Given the description of an element on the screen output the (x, y) to click on. 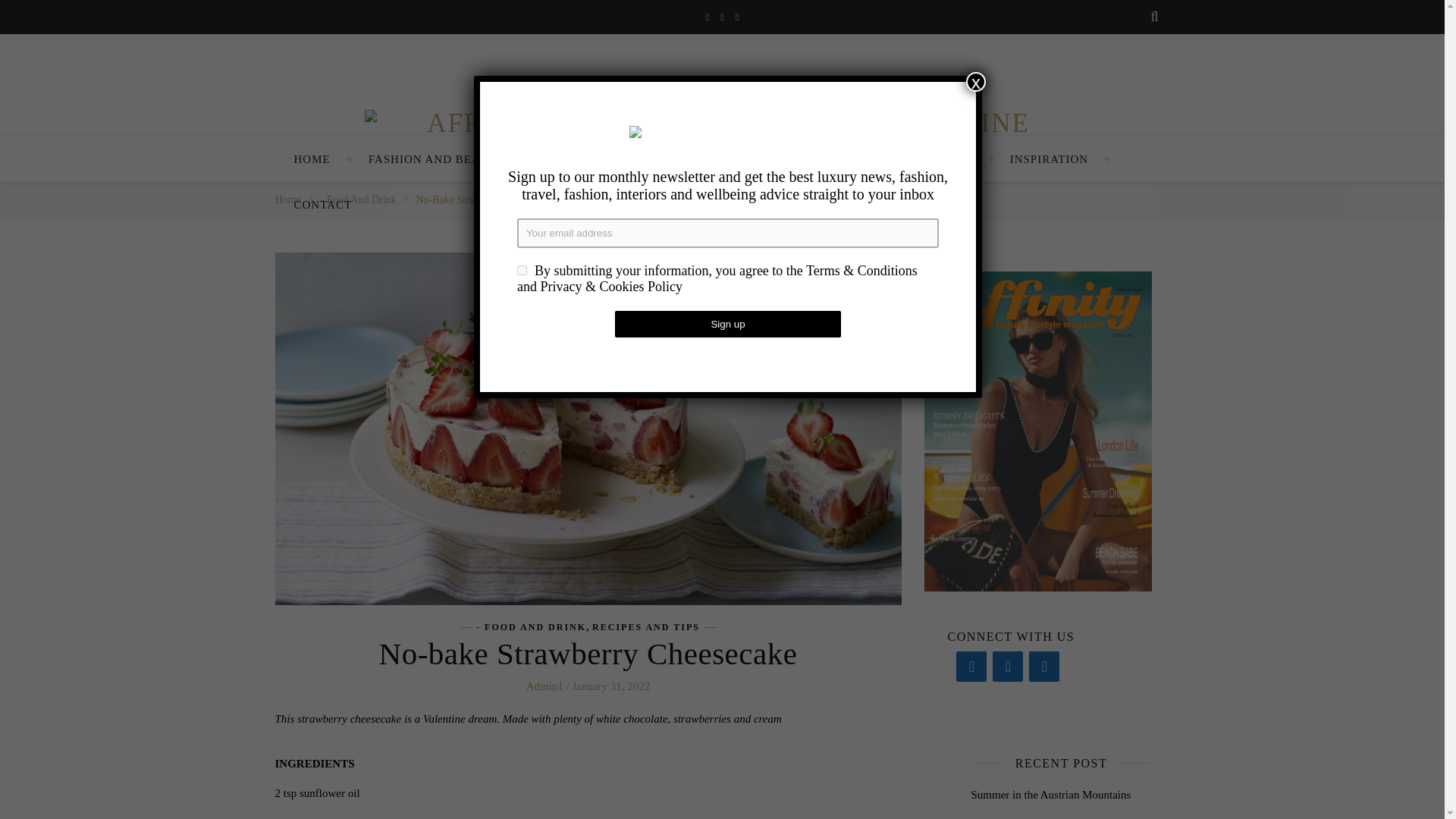
Instagram (1044, 666)
LIFESTYLE (662, 158)
No-bake Strawberry Cheesecake (485, 199)
on (521, 270)
Facebook (971, 666)
HOME (312, 158)
FASHION AND BEAUTY (437, 158)
FOOD AND DRINK (787, 158)
- Food and Drink (358, 199)
INSPIRATION (1049, 158)
Twitter (1007, 666)
Sign up (727, 324)
COMPETITIONS (925, 158)
TRAVEL (568, 158)
Home (287, 199)
